Given the description of an element on the screen output the (x, y) to click on. 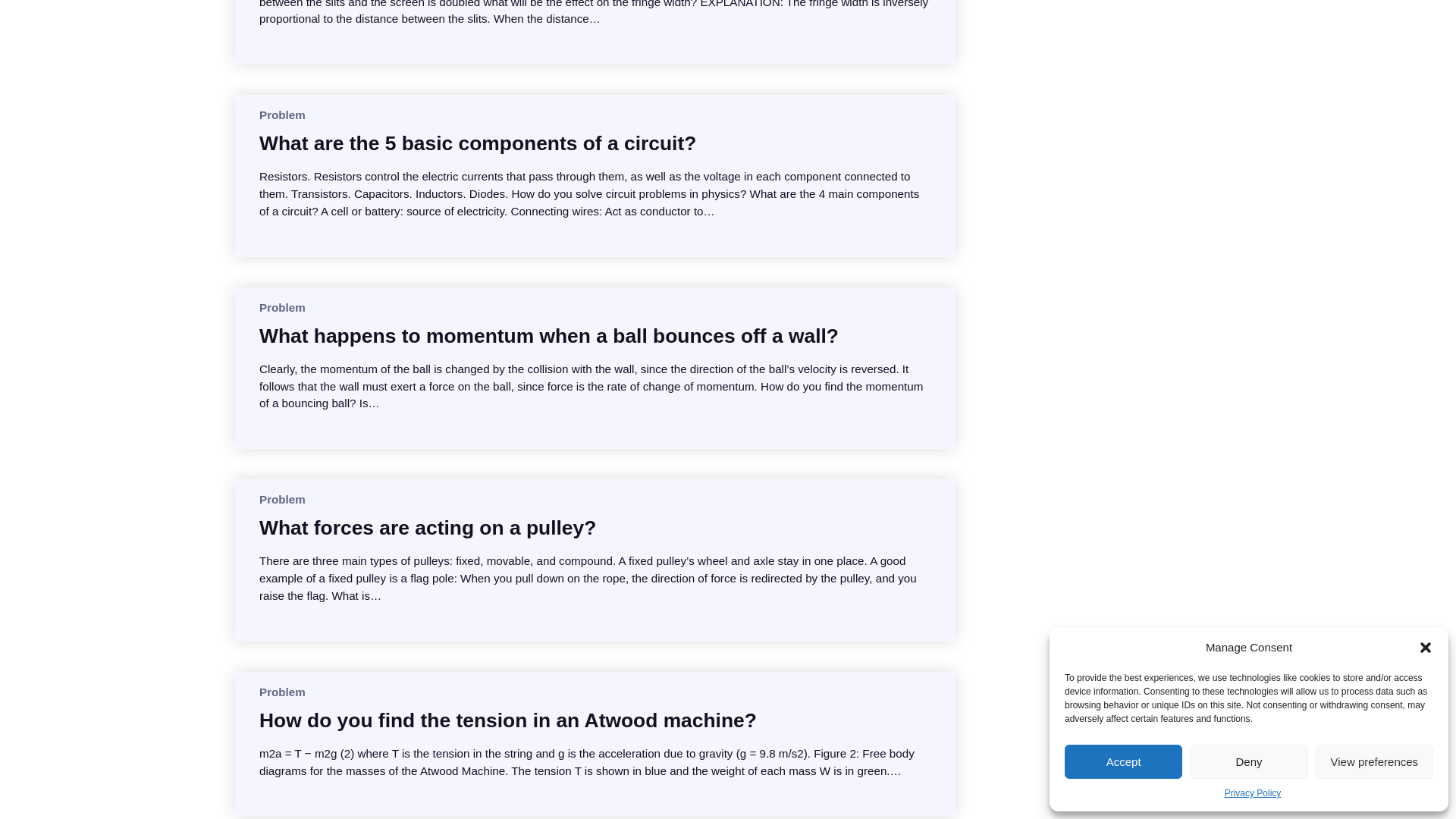
What are the 5 basic components of a circuit? (477, 143)
Problem (282, 691)
Problem (282, 114)
What forces are acting on a pulley? (427, 527)
How do you find the tension in an Atwood machine? (508, 720)
Problem (282, 499)
What happens to momentum when a ball bounces off a wall? (548, 335)
Problem (282, 307)
